Given the description of an element on the screen output the (x, y) to click on. 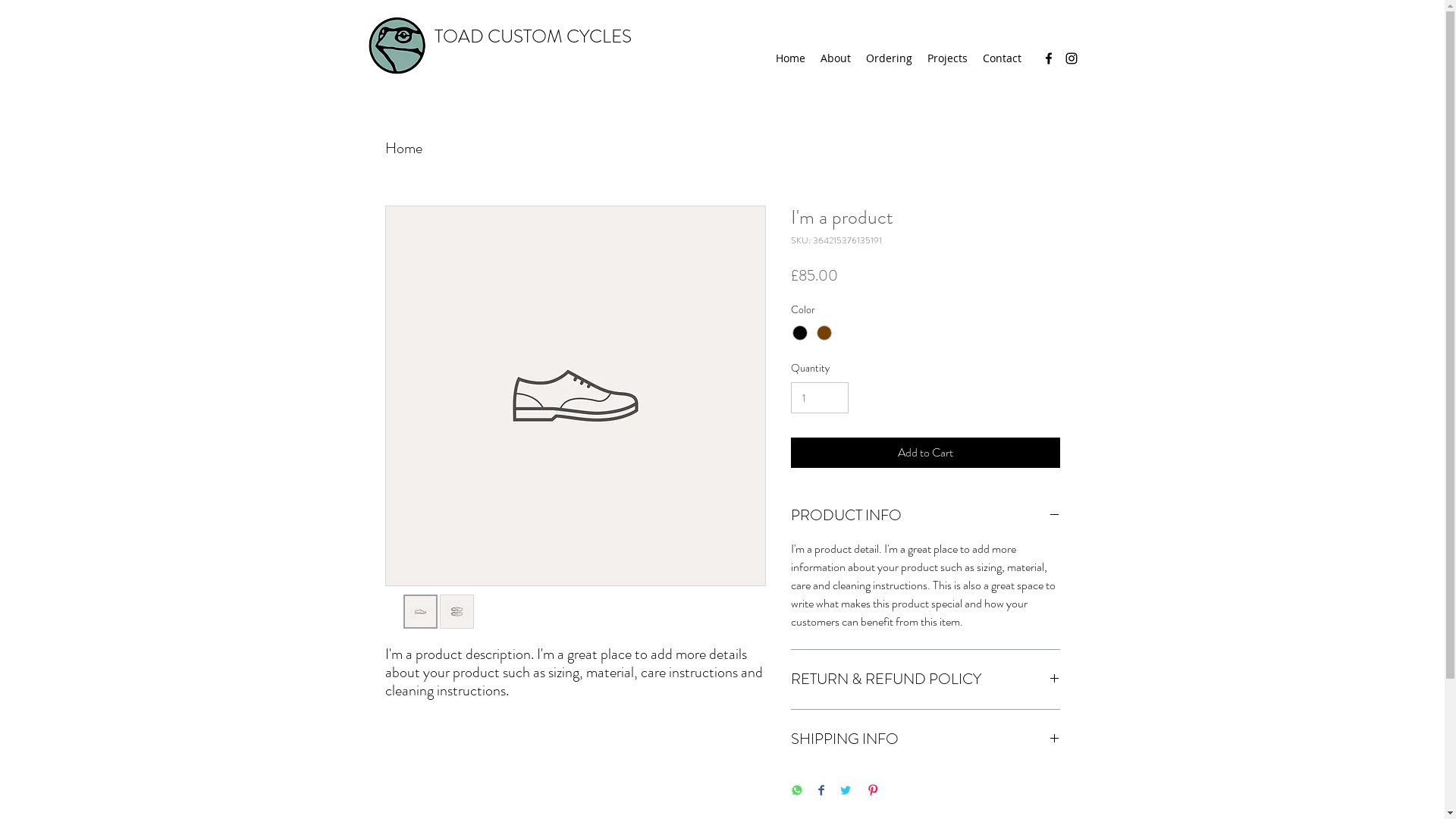
Projects Element type: text (946, 58)
Ordering Element type: text (888, 58)
RETURN & REFUND POLICY Element type: text (924, 679)
About Element type: text (835, 58)
SHIPPING INFO Element type: text (924, 739)
Add to Cart Element type: text (924, 452)
Home Element type: text (789, 58)
PRODUCT INFO Element type: text (924, 515)
Contact Element type: text (1002, 58)
Home Element type: text (403, 148)
